Given the description of an element on the screen output the (x, y) to click on. 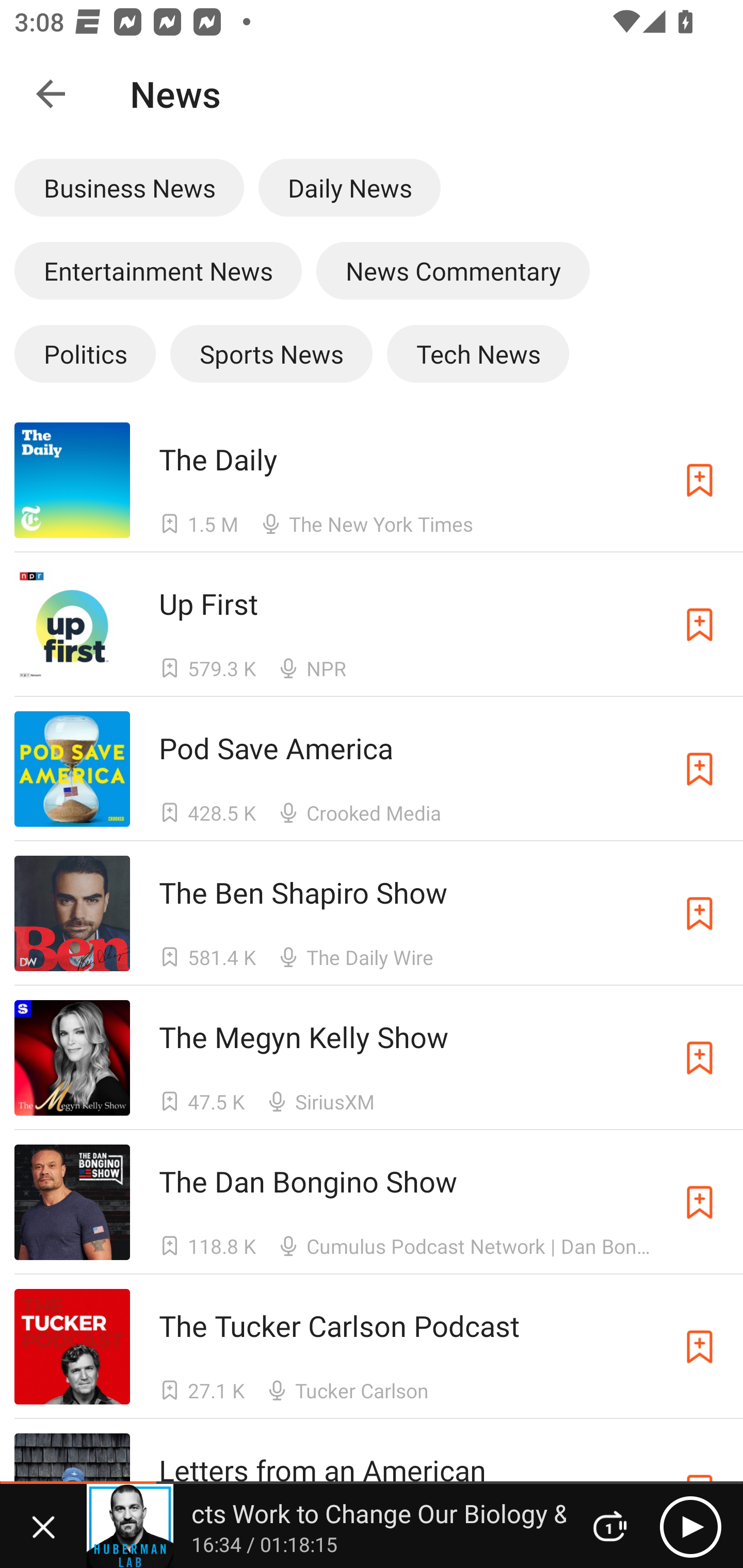
Navigate up (50, 93)
Business News (128, 187)
Daily News (349, 187)
Entertainment News (157, 270)
News Commentary (452, 270)
Politics (85, 353)
Sports News (271, 353)
Tech News (478, 353)
Subscribe (699, 479)
Up First Up First  579.3 K  NPR Subscribe (371, 623)
Subscribe (699, 624)
Subscribe (699, 768)
Subscribe (699, 913)
Subscribe (699, 1058)
Subscribe (699, 1202)
Subscribe (699, 1346)
Play (690, 1526)
